Given the description of an element on the screen output the (x, y) to click on. 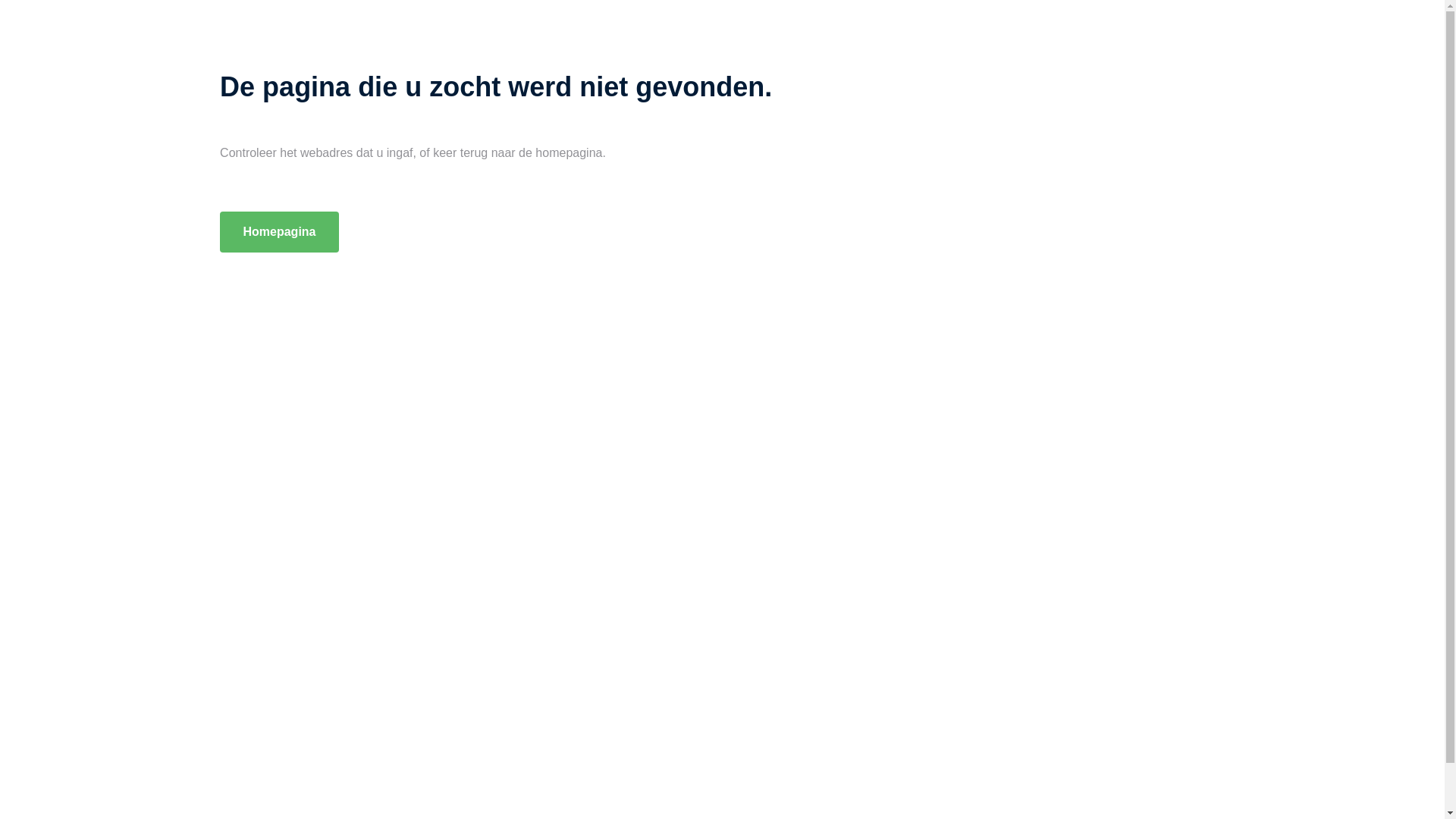
Homepagina Element type: text (278, 231)
